Given the description of an element on the screen output the (x, y) to click on. 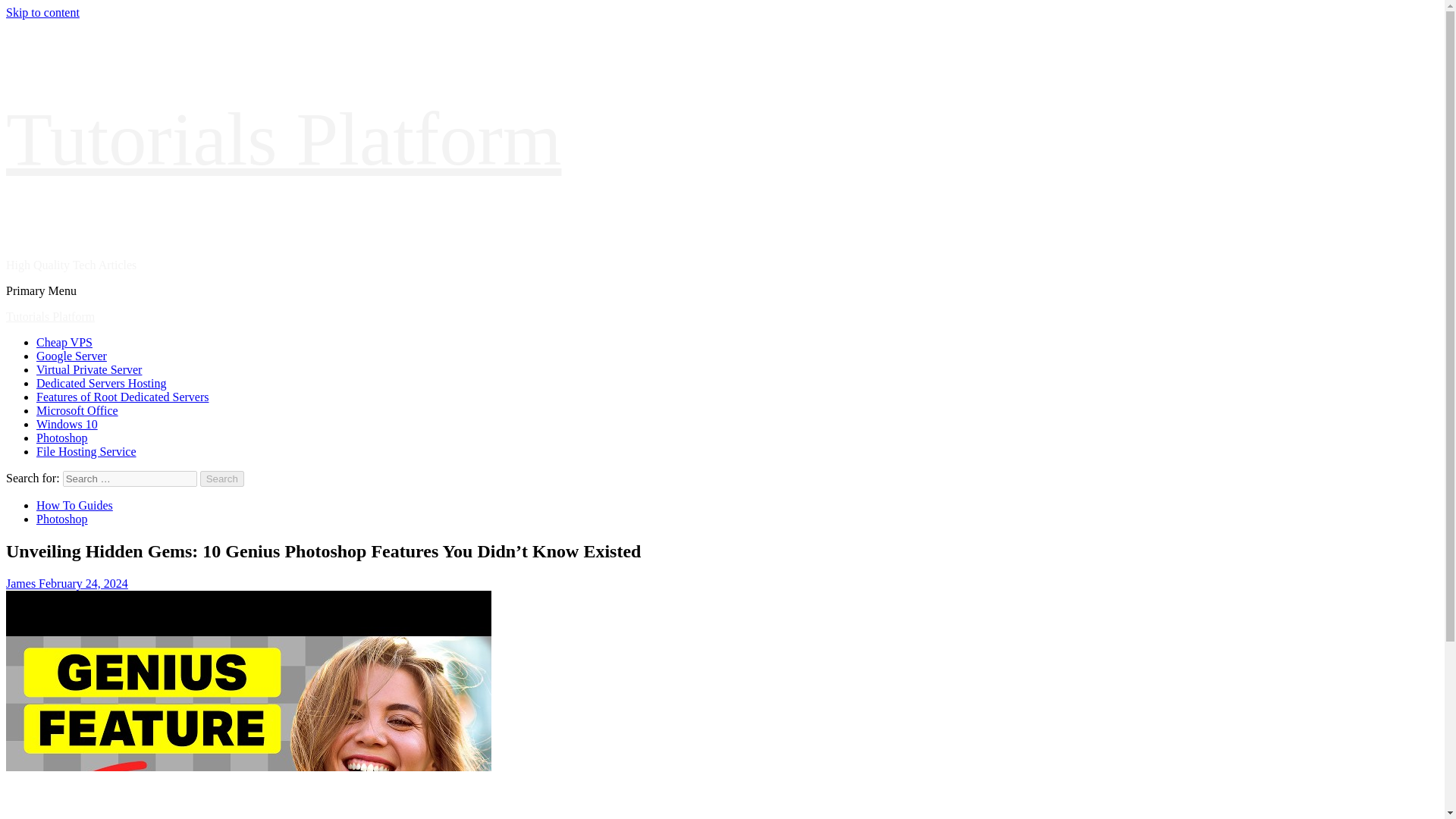
Tutorials Platform (49, 316)
Features of Root Dedicated Servers (122, 396)
Skip to content (42, 11)
Search (222, 478)
Tutorials Platform (282, 138)
James (22, 583)
Windows 10 (66, 423)
Dedicated Servers Hosting (101, 382)
File Hosting Service (86, 451)
Cheap VPS (64, 341)
Search (222, 478)
How To Guides (74, 504)
Photoshop (61, 518)
Virtual Private Server (88, 369)
Photoshop (61, 437)
